Given the description of an element on the screen output the (x, y) to click on. 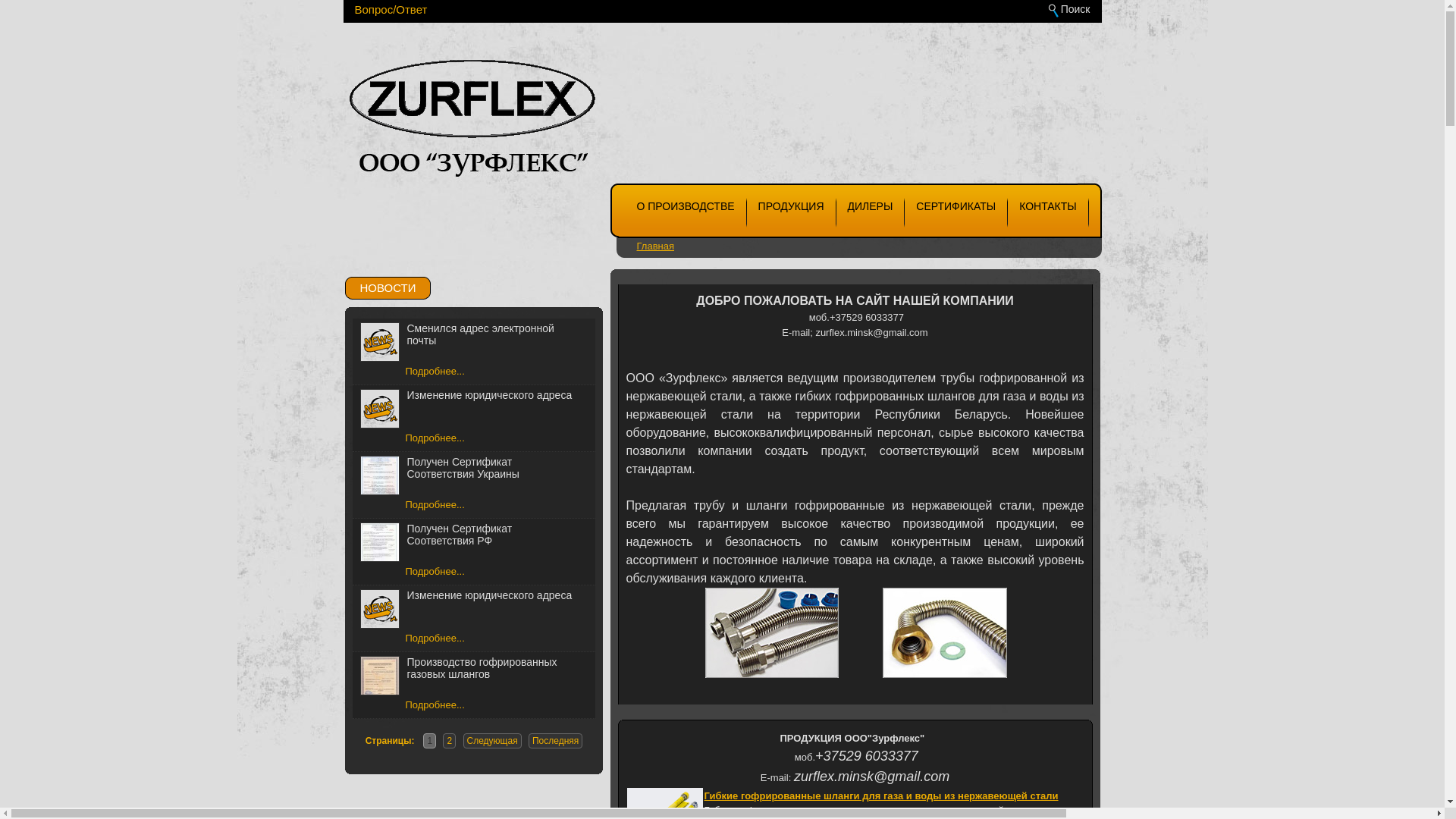
2 Element type: text (448, 740)
